Given the description of an element on the screen output the (x, y) to click on. 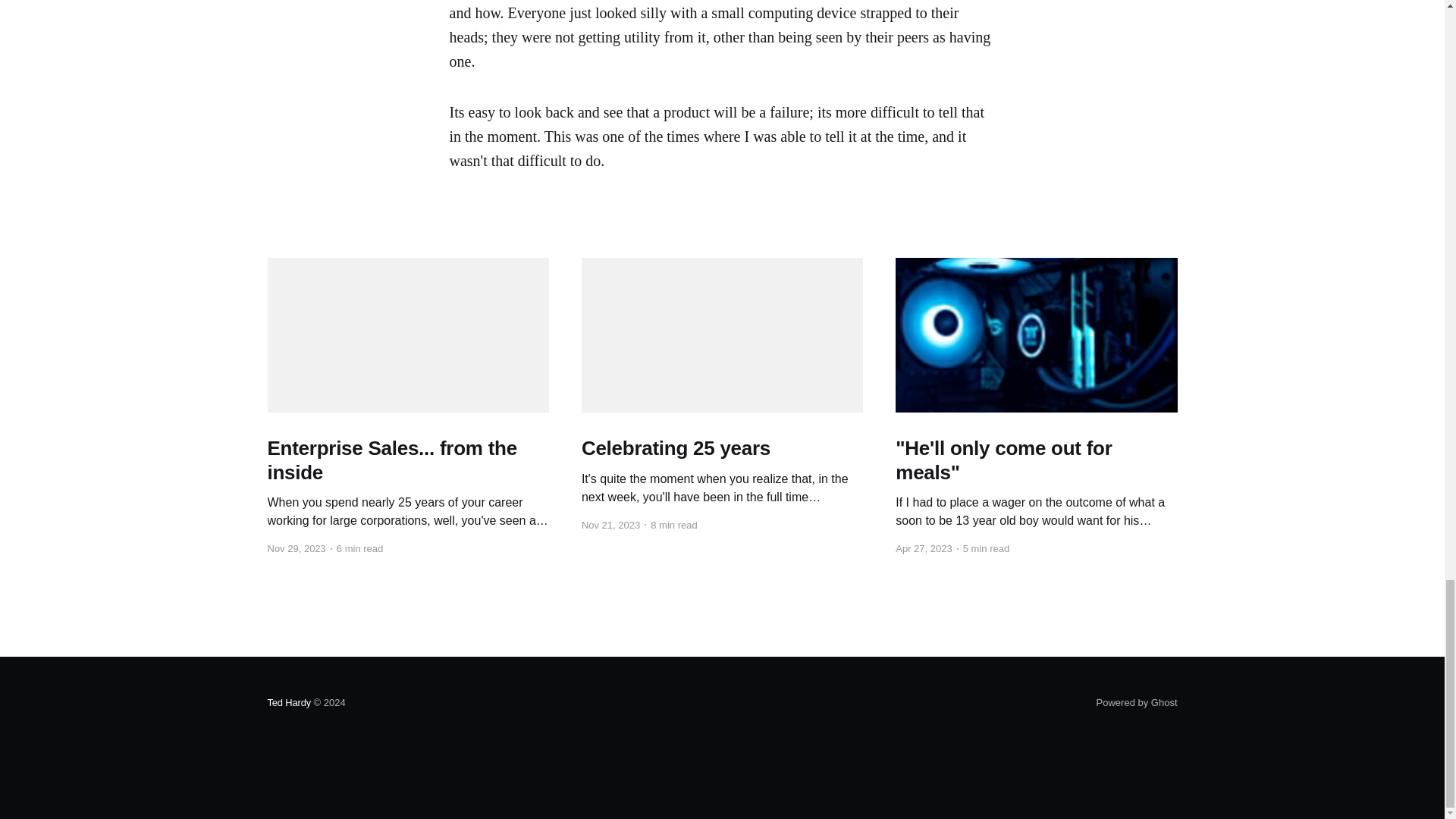
Ted Hardy (288, 702)
Powered by Ghost (1136, 702)
